Given the description of an element on the screen output the (x, y) to click on. 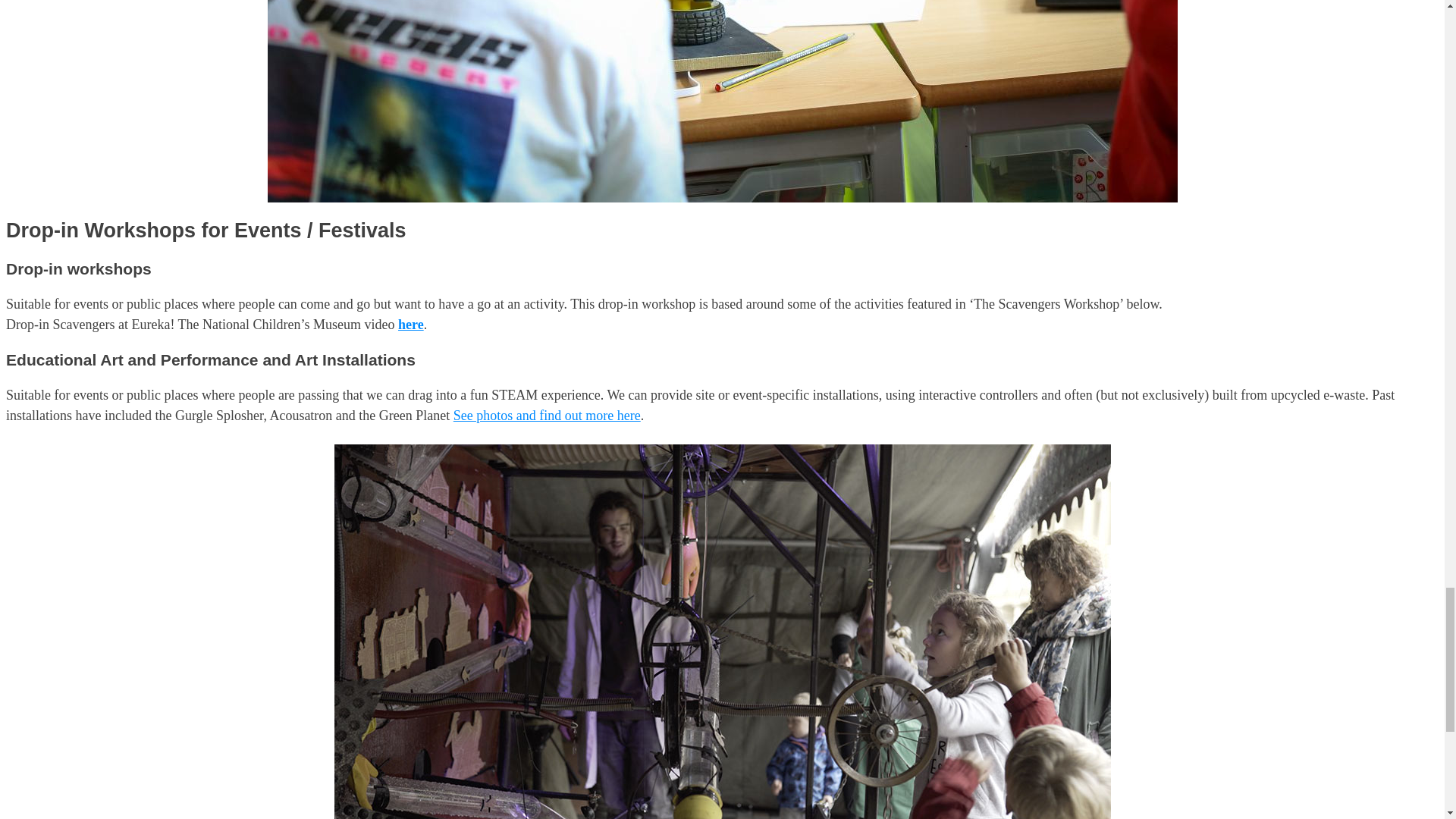
See photos and find out more here (546, 415)
here (410, 324)
